Given the description of an element on the screen output the (x, y) to click on. 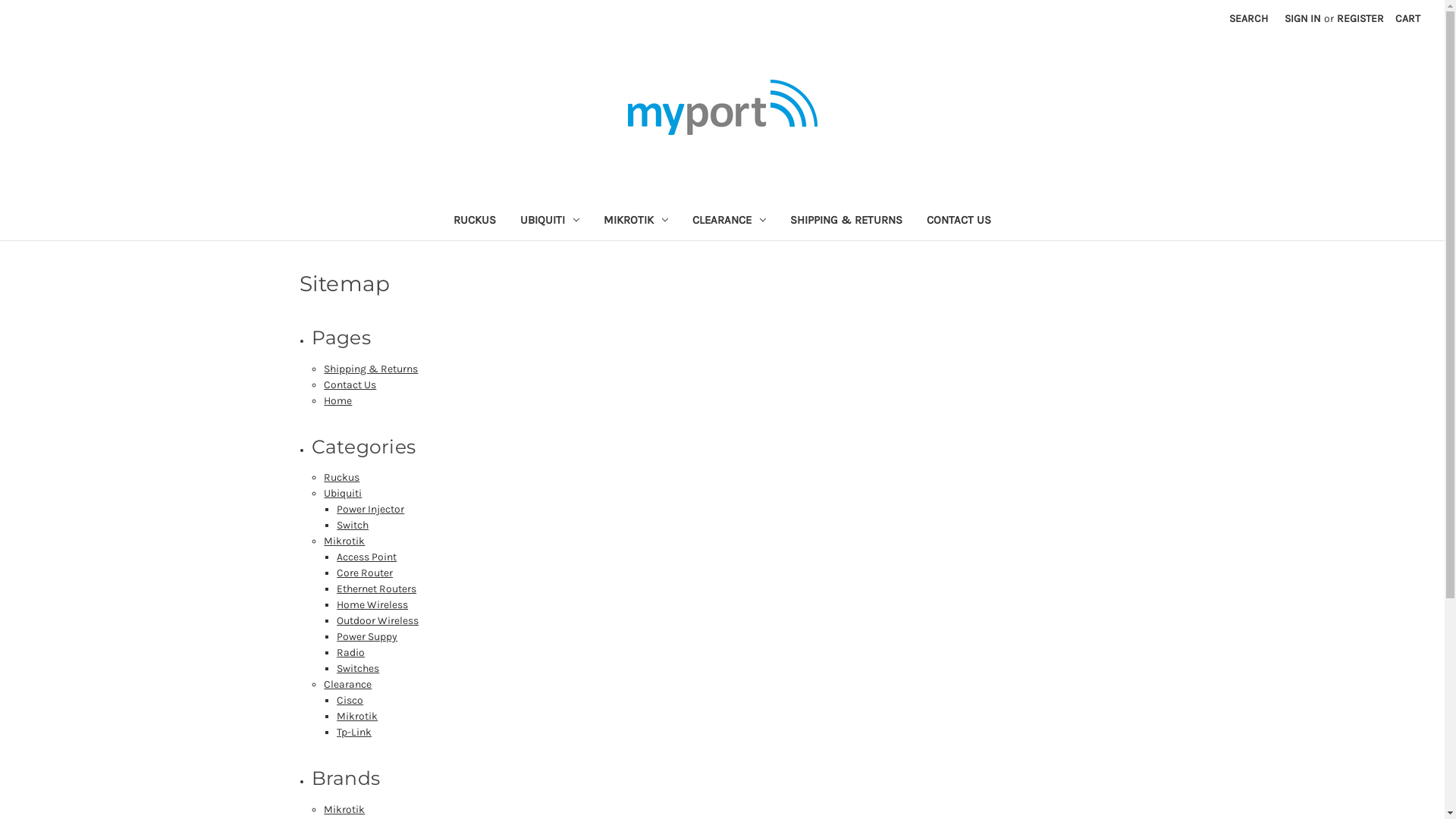
Ubiquiti Element type: text (342, 492)
RUCKUS Element type: text (474, 221)
UBIQUITI Element type: text (549, 221)
SHIPPING & RETURNS Element type: text (846, 221)
SIGN IN Element type: text (1302, 18)
Ethernet Routers Element type: text (376, 588)
Cisco Element type: text (349, 699)
Home Element type: text (337, 400)
Home Wireless Element type: text (371, 604)
Tp-Link Element type: text (353, 731)
Power Suppy Element type: text (366, 636)
CLEARANCE Element type: text (729, 221)
Mikrotik Element type: text (343, 809)
Outdoor Wireless Element type: text (377, 620)
Power Injector Element type: text (370, 508)
Clearance Element type: text (347, 683)
Ruckus Element type: text (341, 476)
CART Element type: text (1407, 18)
SEARCH Element type: text (1248, 18)
Myport Shop Element type: hover (722, 106)
CONTACT US Element type: text (958, 221)
Switch Element type: text (352, 524)
Switches Element type: text (357, 668)
Access Point Element type: text (366, 556)
Contact Us Element type: text (349, 384)
REGISTER Element type: text (1360, 18)
Shipping & Returns Element type: text (370, 368)
Core Router Element type: text (364, 572)
Radio Element type: text (350, 652)
Mikrotik Element type: text (356, 715)
Mikrotik Element type: text (343, 540)
MIKROTIK Element type: text (635, 221)
